Given the description of an element on the screen output the (x, y) to click on. 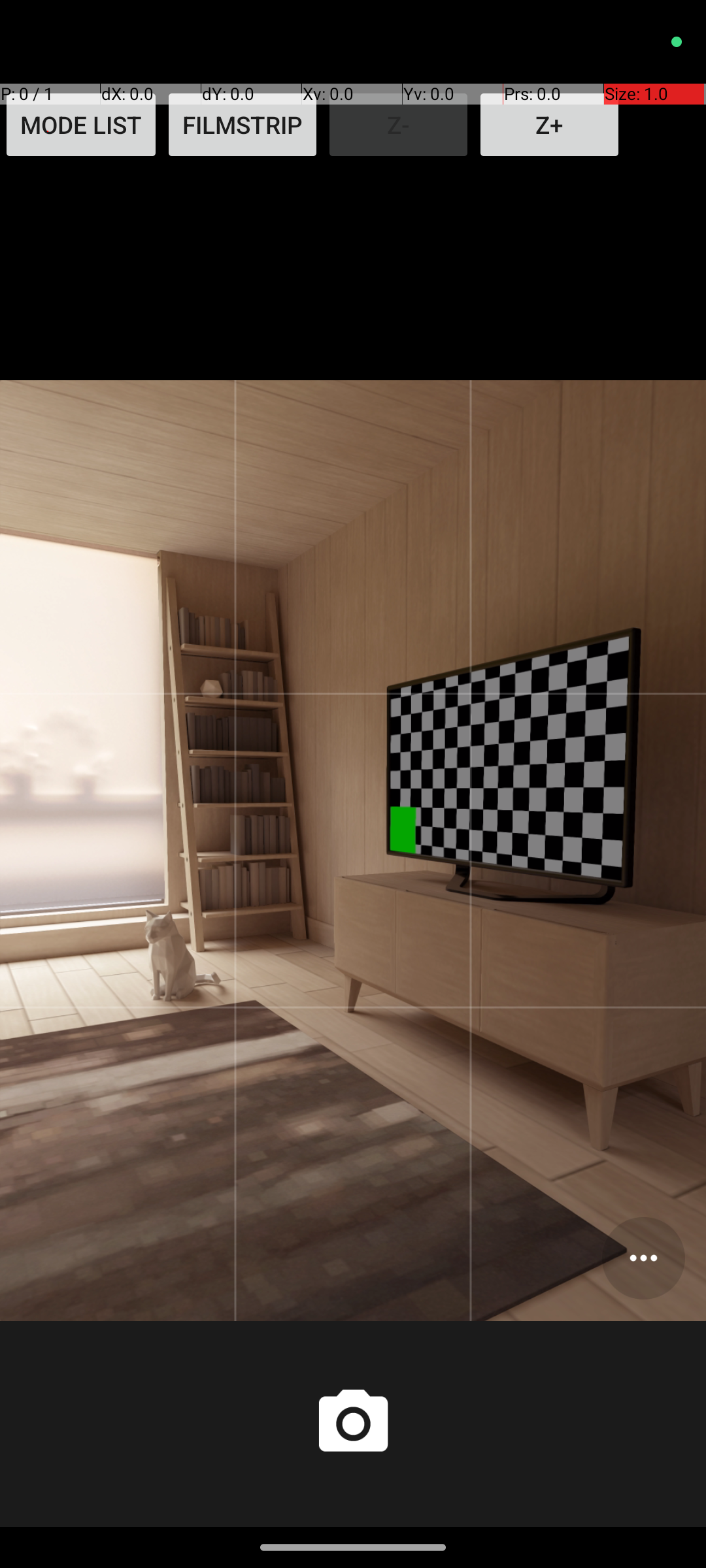
Options Element type: android.widget.LinearLayout (643, 1258)
Shutter Element type: android.widget.ImageView (353, 1423)
MODE LIST Element type: android.widget.Button (81, 124)
FILMSTRIP Element type: android.widget.Button (242, 124)
Z- Element type: android.widget.Button (397, 124)
Z+ Element type: android.widget.Button (548, 124)
